Given the description of an element on the screen output the (x, y) to click on. 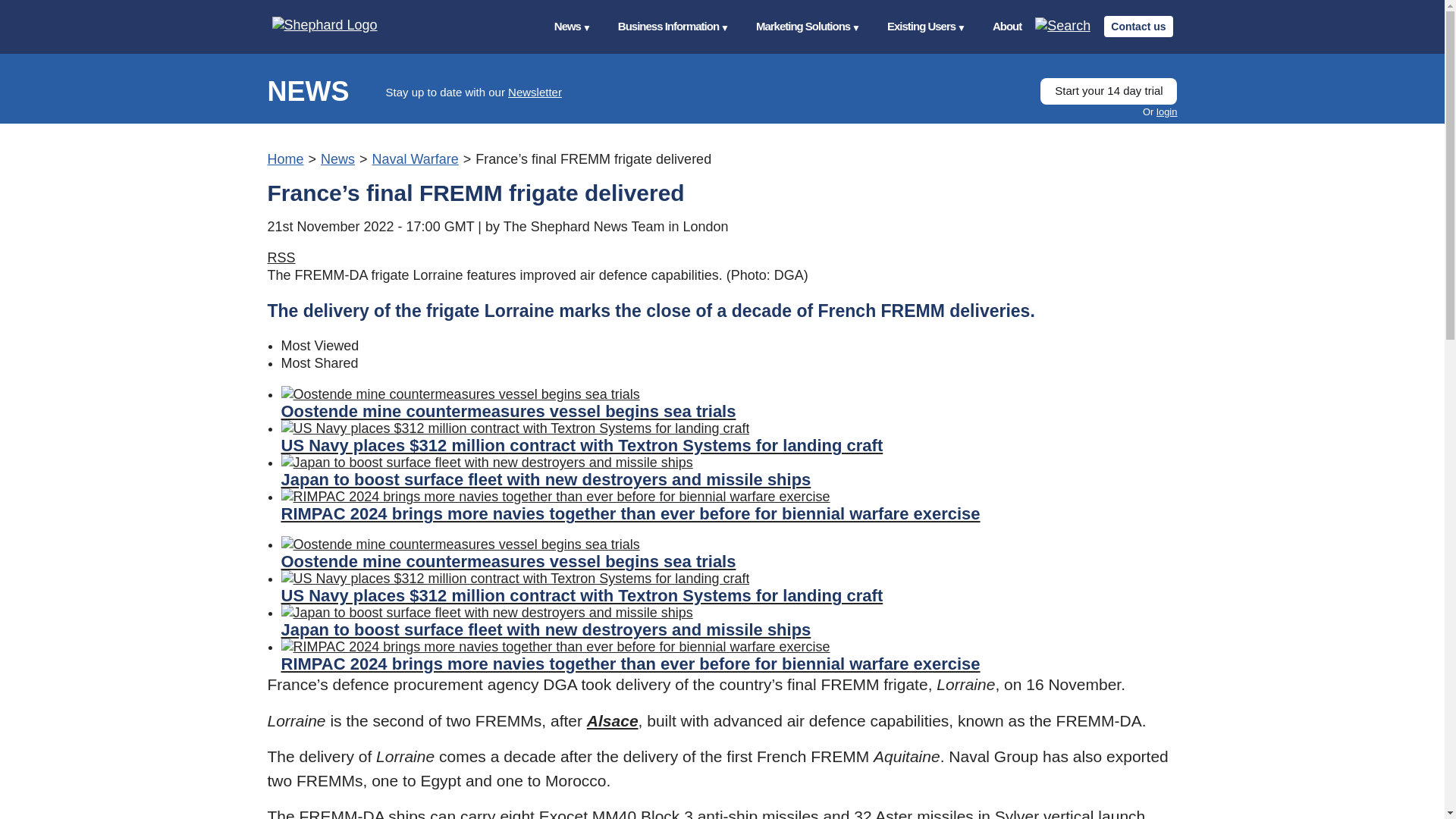
Naval Warfare RSS Feed (280, 257)
Start your 14 day trial (1108, 90)
About (1006, 27)
Start a trial subscription (1108, 90)
Newsletter (535, 91)
Login (1166, 111)
login (1166, 111)
Naval Warfare (414, 159)
Oostende mine countermeasures vessel begins sea trials (728, 403)
Contact us (1137, 25)
Shephard (338, 26)
